Given the description of an element on the screen output the (x, y) to click on. 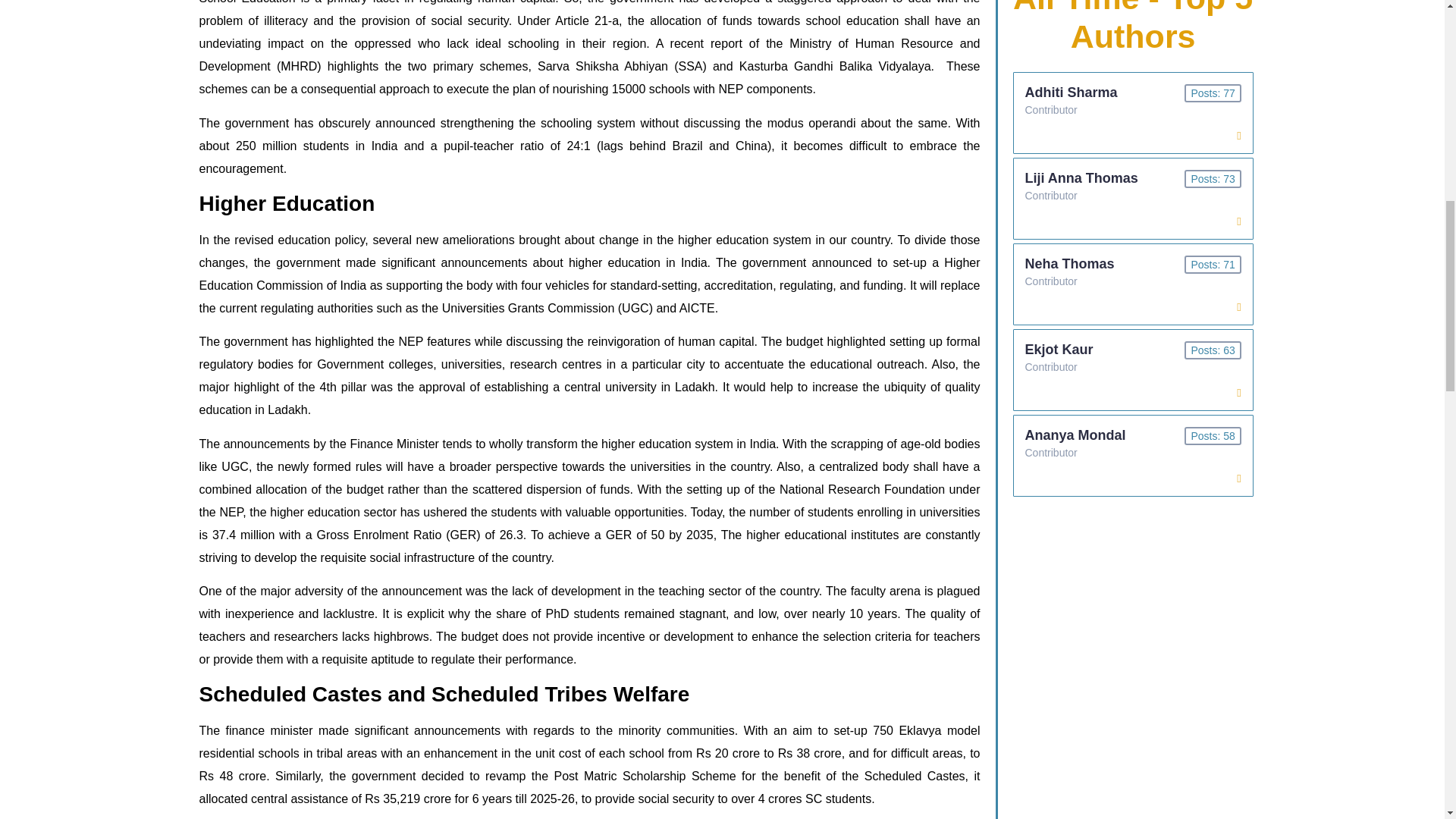
Click here to Email (1238, 392)
Click here to Email (1238, 221)
Click here to Email (1238, 306)
Click here to Email (1238, 135)
Click here to Email (1238, 478)
